Given the description of an element on the screen output the (x, y) to click on. 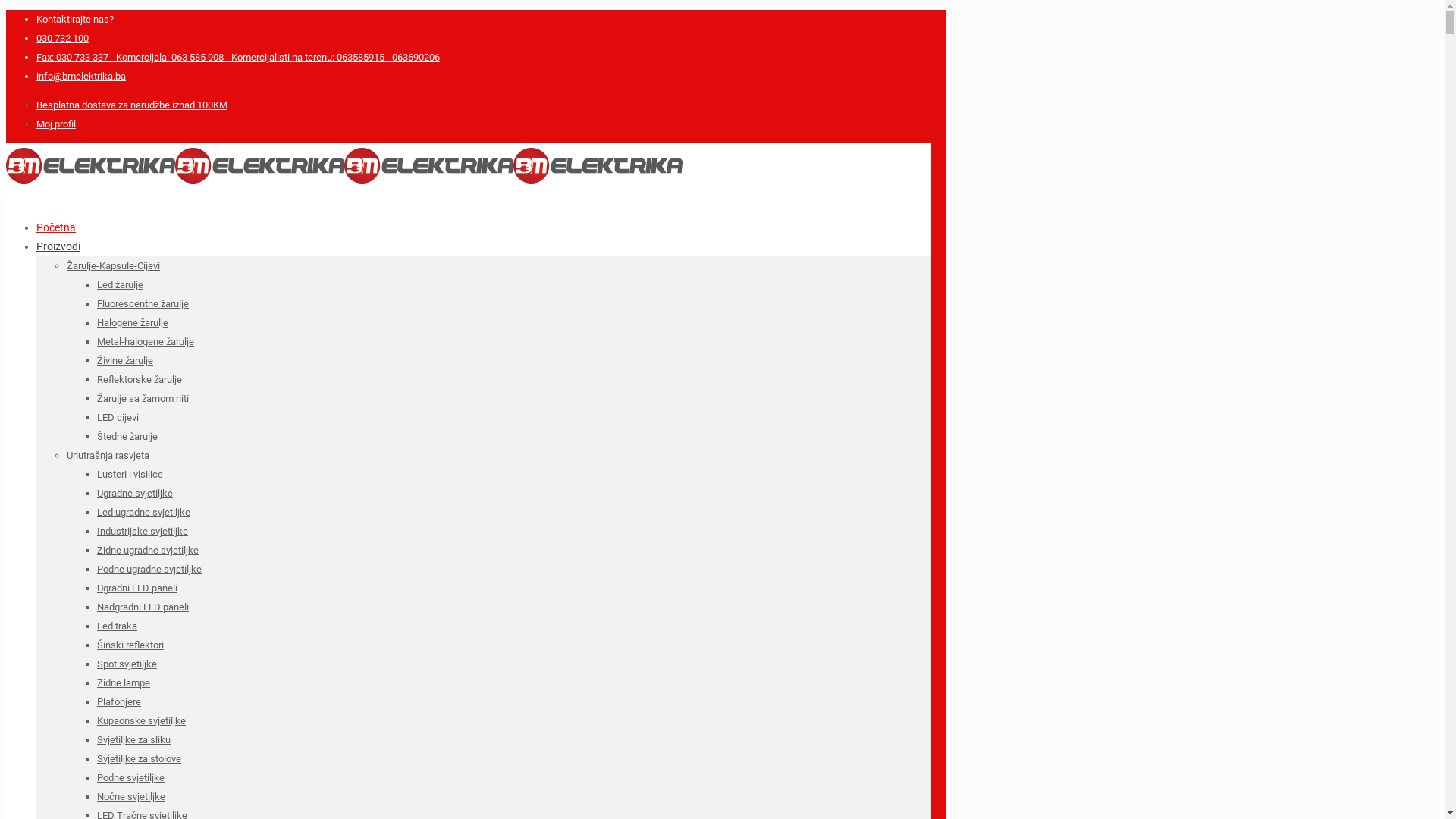
Nadgradni LED paneli Element type: text (142, 606)
Spot svjetiljke Element type: text (126, 663)
Ugradni LED paneli Element type: text (137, 587)
Svjetiljke za stolove Element type: text (139, 758)
Moj profil Element type: text (55, 123)
Podne svjetiljke Element type: text (130, 777)
Ugradne svjetiljke Element type: text (134, 492)
Zidne lampe Element type: text (123, 682)
Podne ugradne svjetiljke Element type: text (149, 568)
Zidne ugradne svjetiljke Element type: text (147, 549)
Proizvodi Element type: text (58, 246)
LED cijevi Element type: text (117, 417)
Industrijske svjetiljke Element type: text (142, 530)
Plafonjere Element type: text (119, 701)
Svjetiljke za sliku Element type: text (133, 739)
030 732 100 Element type: text (62, 37)
info@bmelektrika.ba Element type: text (80, 75)
Led traka Element type: text (117, 625)
Lusteri i visilice Element type: text (130, 474)
BM Elektrika Element type: hover (344, 185)
Led ugradne svjetiljke Element type: text (143, 511)
Kupaonske svjetiljke Element type: text (141, 720)
